Given the description of an element on the screen output the (x, y) to click on. 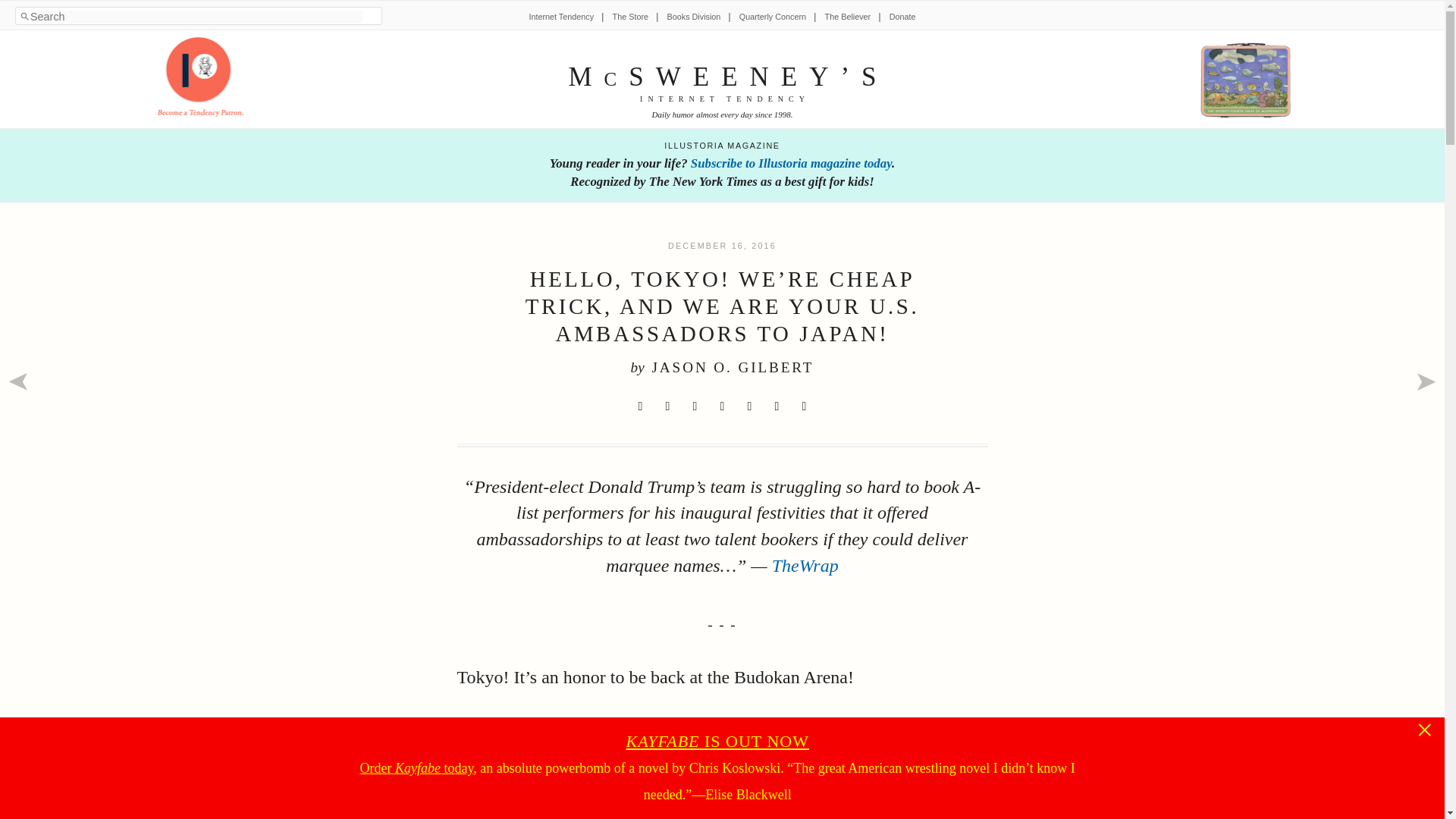
The Believer (847, 16)
Internet Tendency (561, 16)
Copy to Clipboard (804, 405)
Share to Reddit (695, 405)
Share to Bluesky (722, 405)
Share to X (640, 405)
Share to Facebook (667, 405)
The Store (629, 16)
Search Field (196, 16)
Quarterly Concern (772, 16)
